Given the description of an element on the screen output the (x, y) to click on. 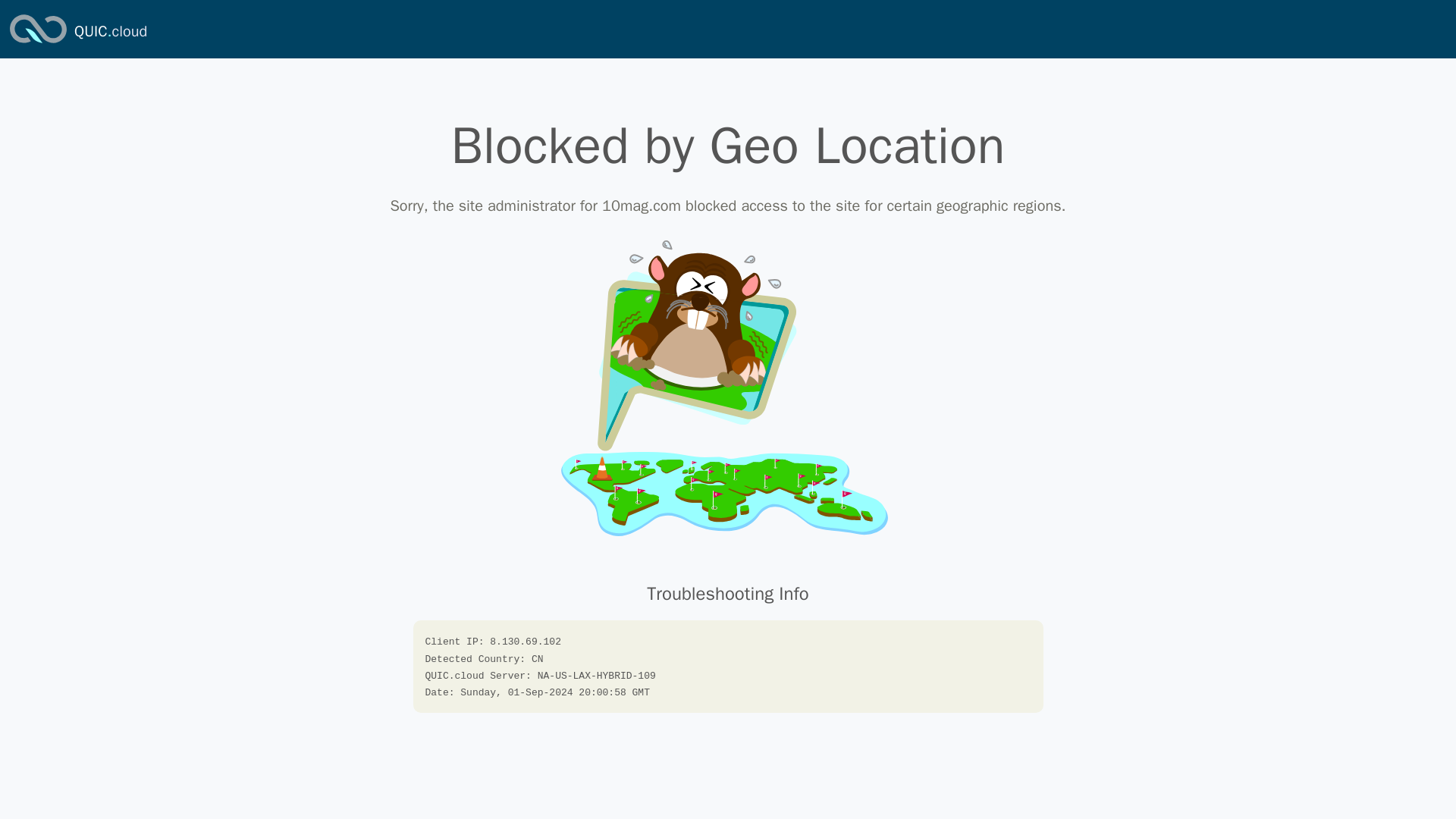
QUIC.cloud (37, 43)
QUIC.cloud (110, 31)
QUIC.cloud (110, 31)
